Given the description of an element on the screen output the (x, y) to click on. 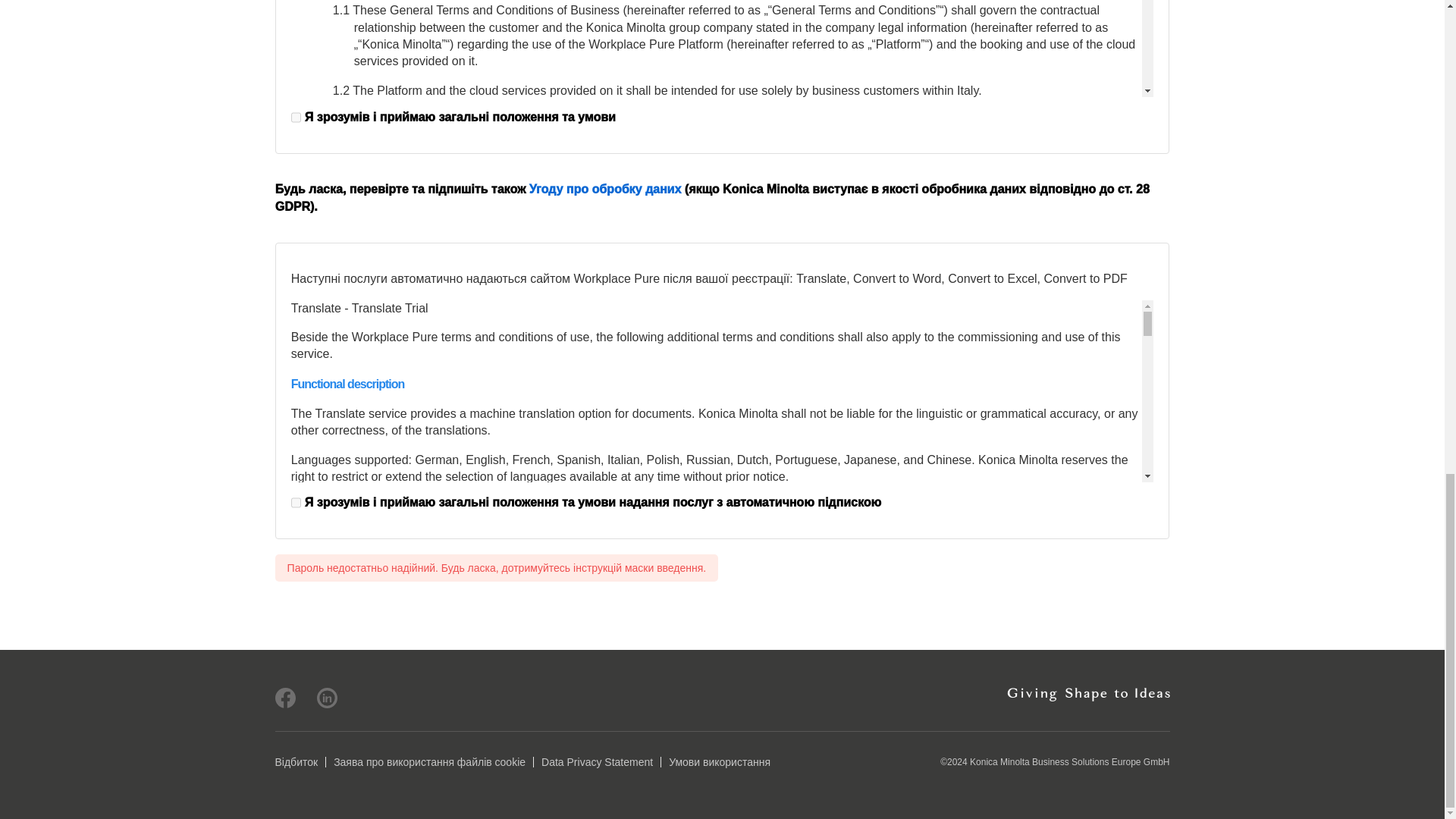
on (296, 117)
on (296, 502)
